Given the description of an element on the screen output the (x, y) to click on. 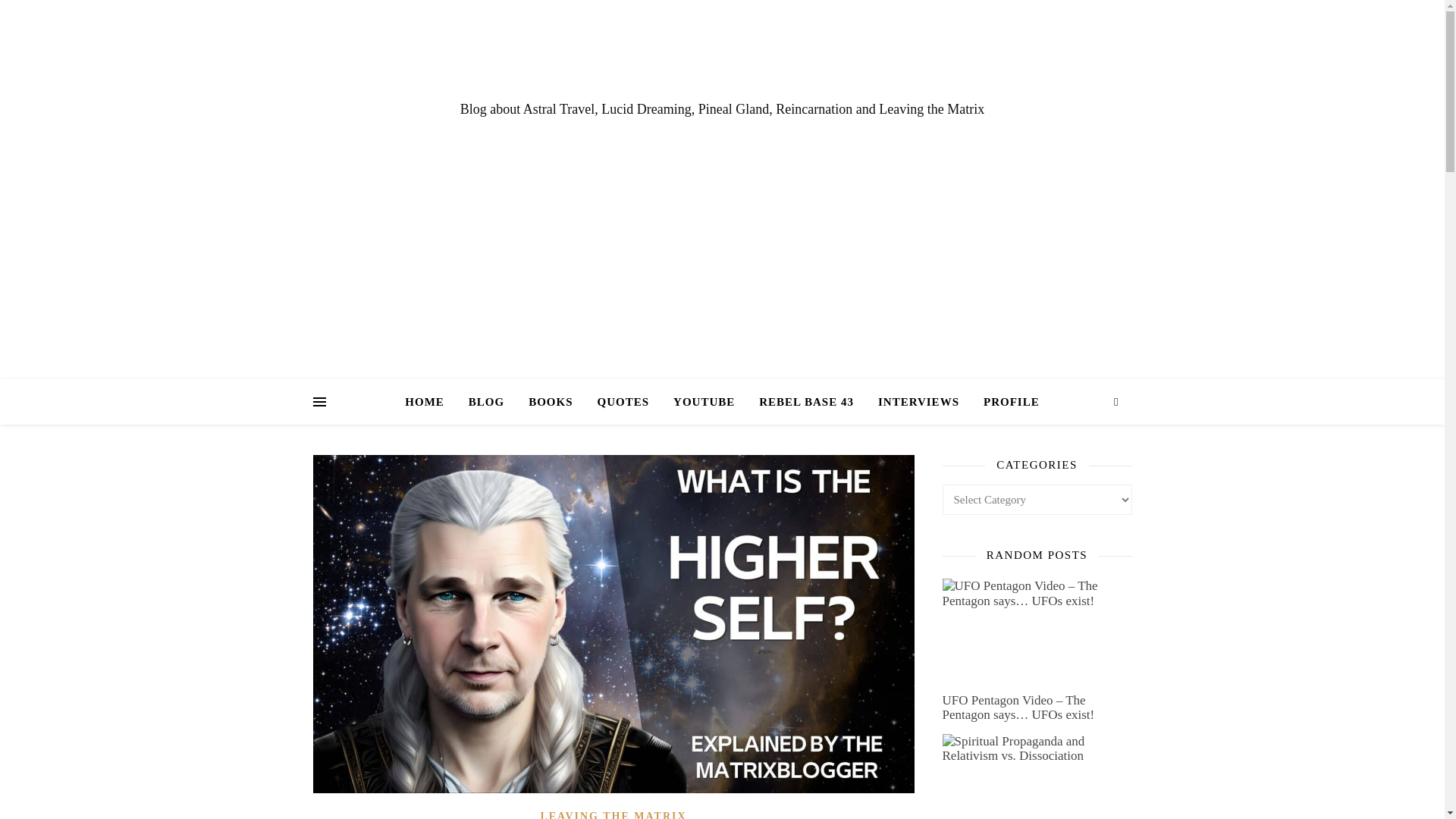
LEAVING THE MATRIX (612, 814)
YOUTUBE (703, 402)
INTERVIEWS (918, 402)
QUOTES (623, 402)
HOME (430, 402)
REBEL BASE 43 (806, 402)
PROFILE (1005, 402)
BLOG (486, 402)
BOOKS (550, 402)
